Given the description of an element on the screen output the (x, y) to click on. 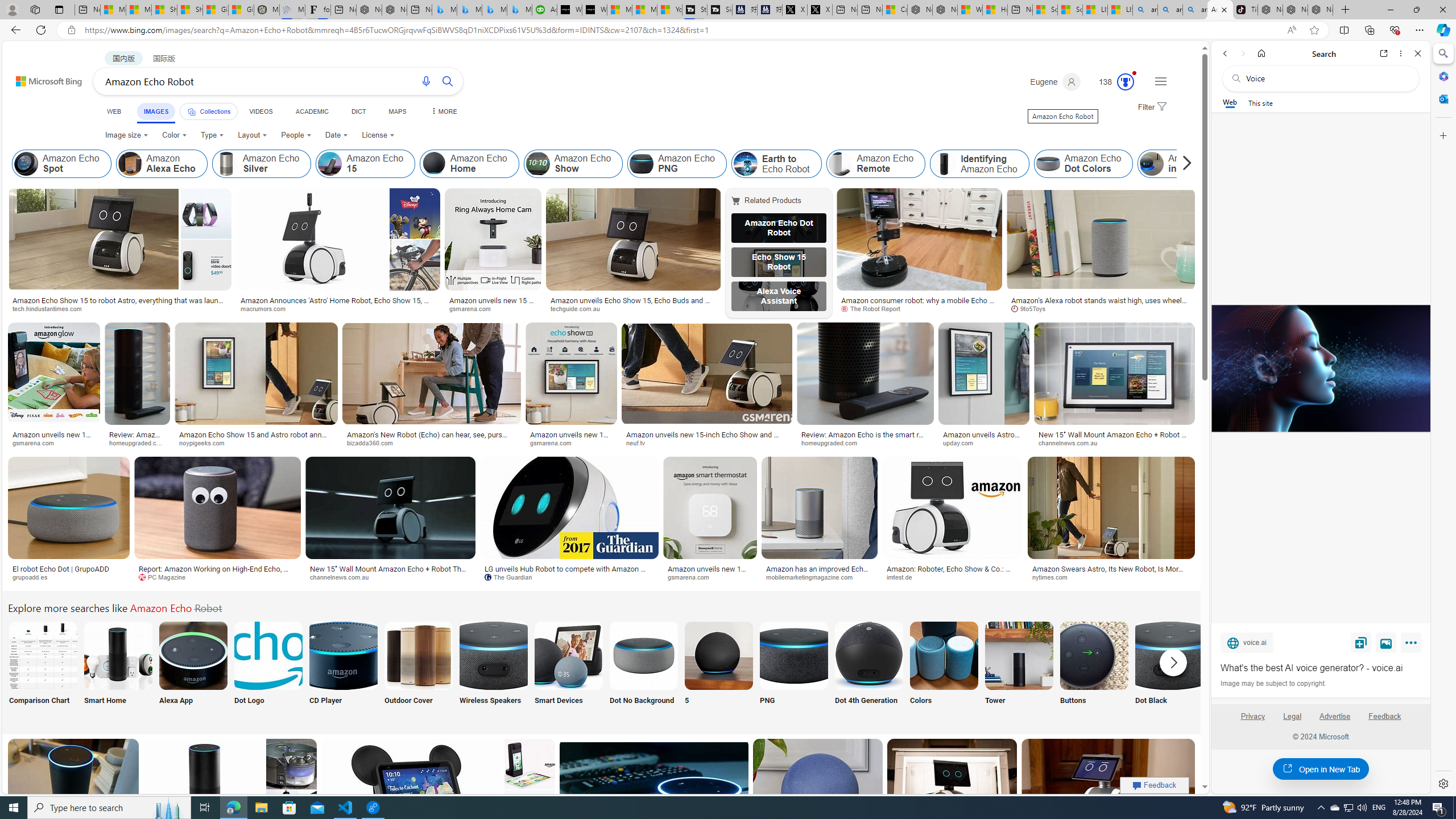
Forward (1242, 53)
Outlook (1442, 98)
Nordace Siena Pro 15 Backpack (1295, 9)
macrumors.com (337, 308)
Home (1261, 53)
Amazon Echo Home (434, 163)
nytimes.com (1111, 576)
Layout (253, 135)
